Given the description of an element on the screen output the (x, y) to click on. 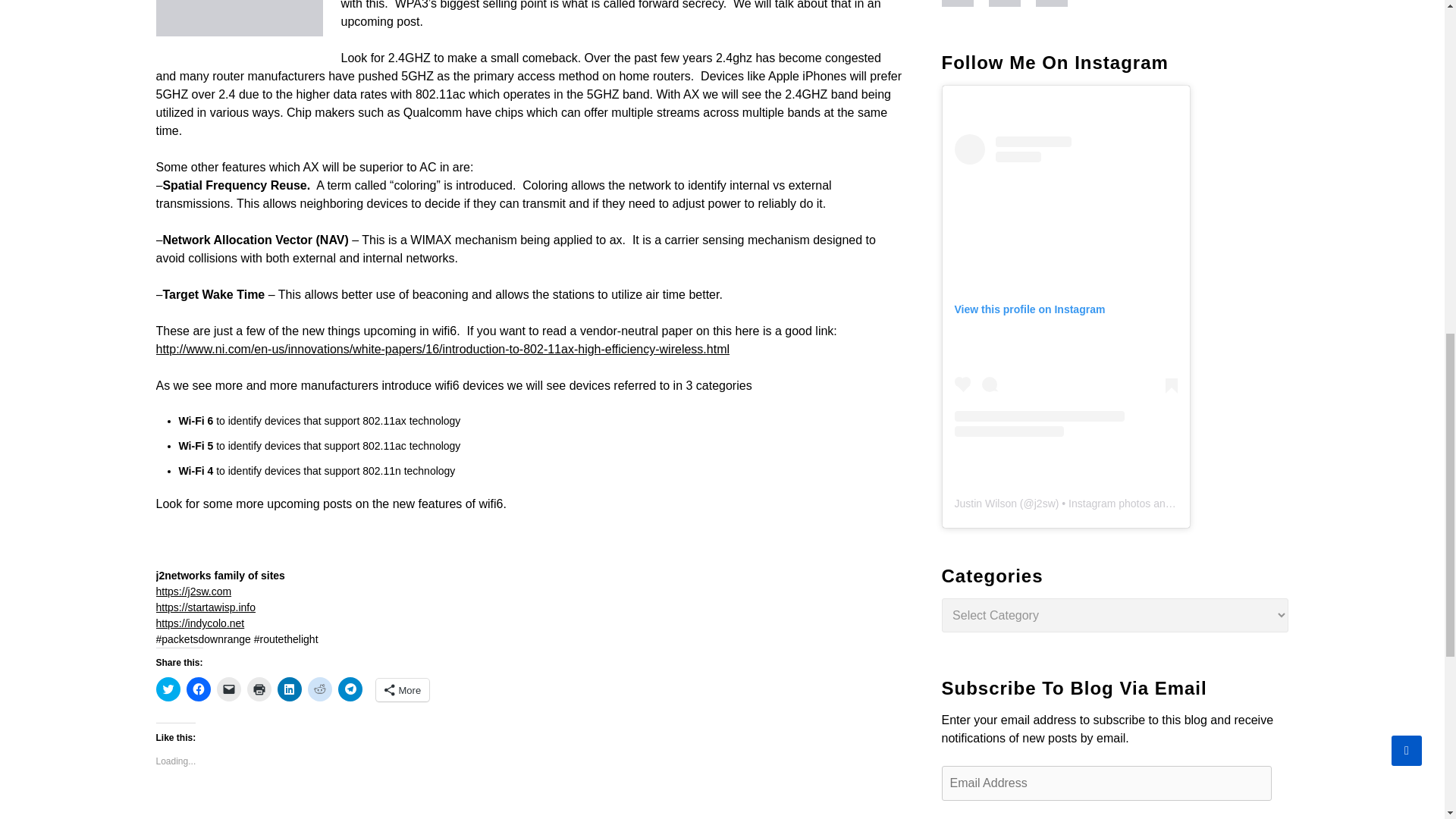
Google-Play (1011, 3)
Click to print (258, 689)
More (402, 689)
Click to share on Facebook (198, 689)
Click to share on Reddit (319, 689)
Click to email a link to a friend (228, 689)
Click to share on Twitter (167, 689)
Click to share on Telegram (349, 689)
iTunes (965, 3)
Spotify (1059, 3)
